Given the description of an element on the screen output the (x, y) to click on. 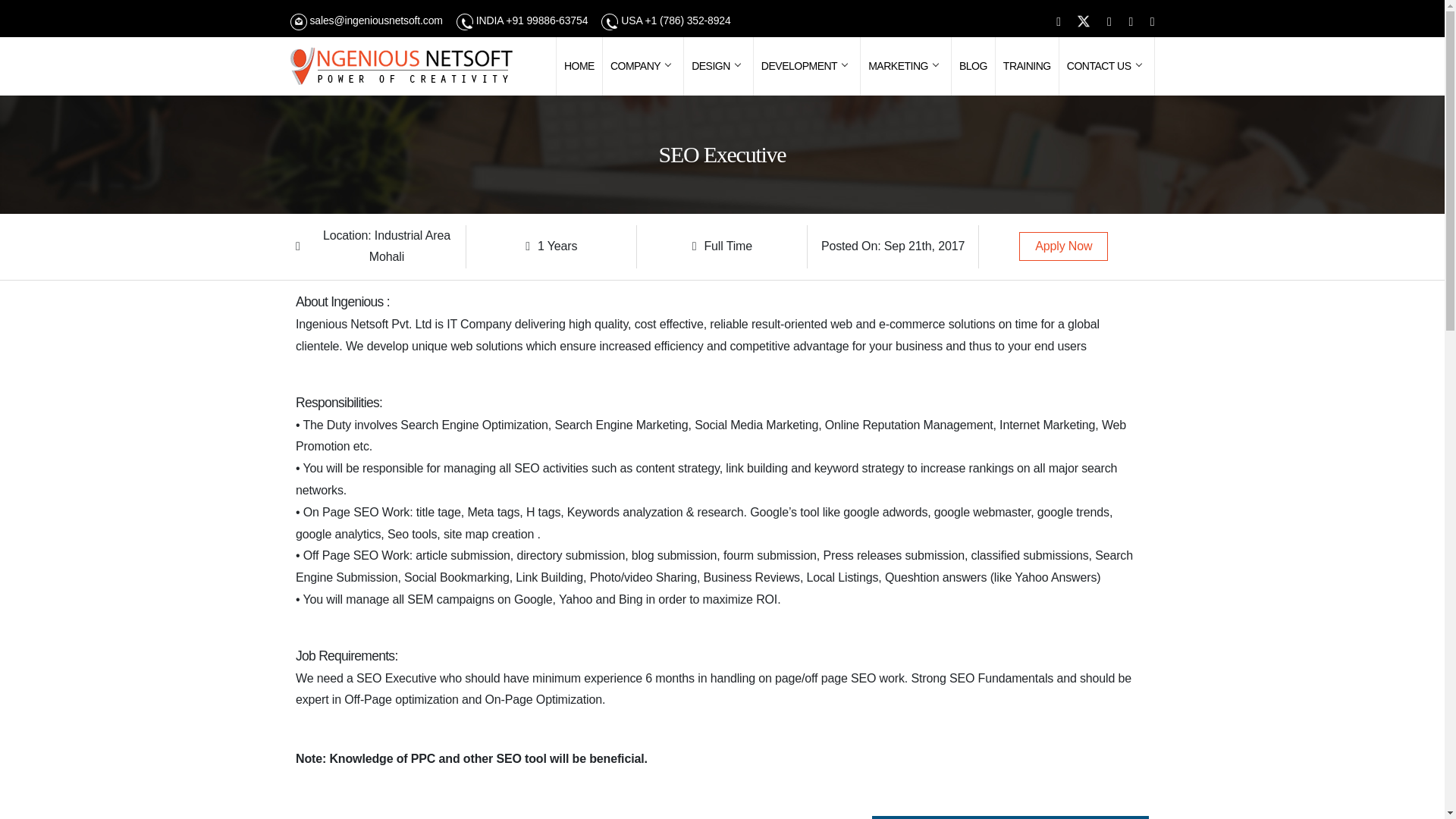
TRAINING (1026, 65)
DEVELOPMENT (807, 65)
COMPANY (642, 65)
DESIGN (718, 65)
CONTACT US (1106, 65)
MARKETING (905, 65)
